Given the description of an element on the screen output the (x, y) to click on. 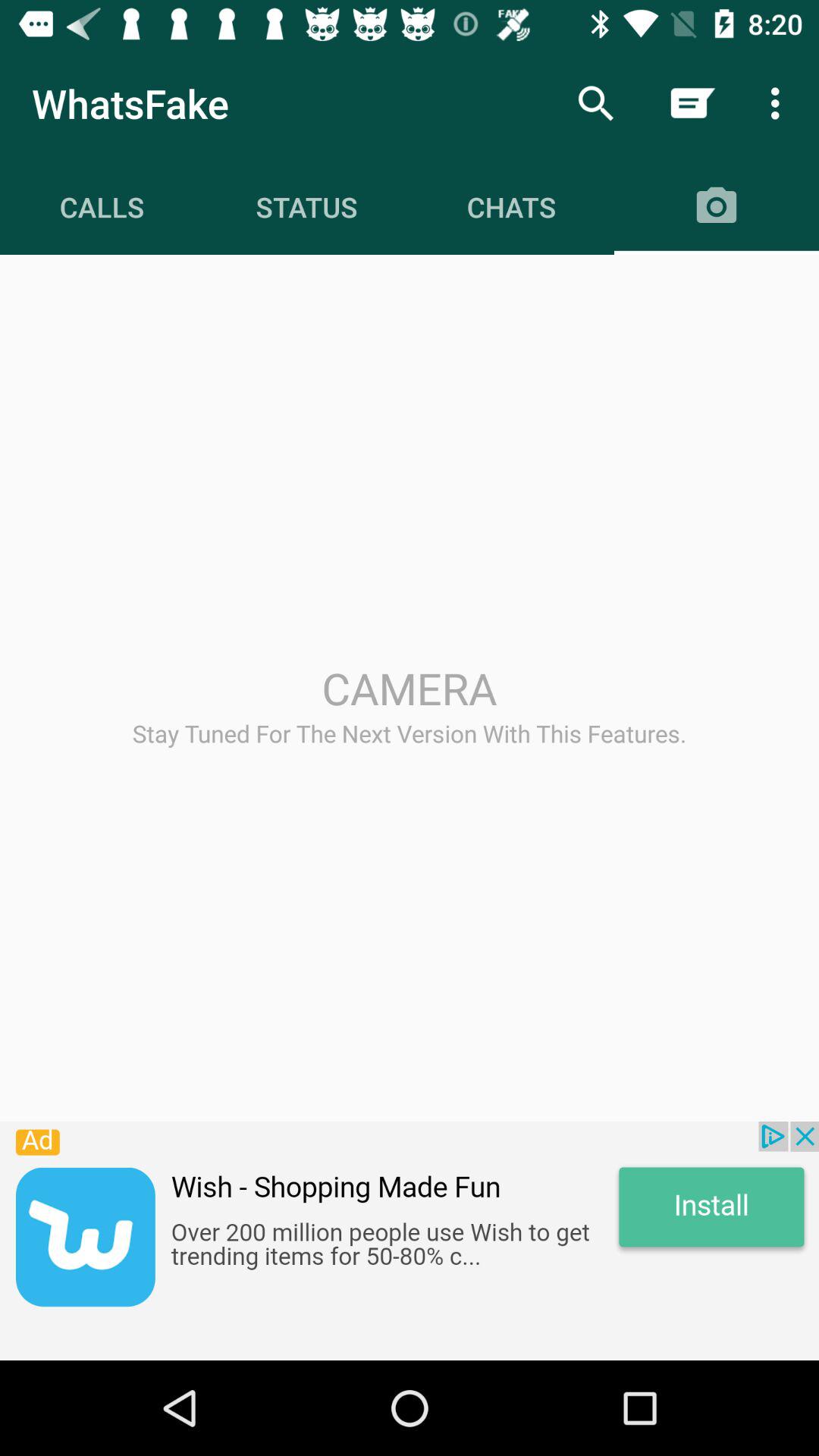
advertisement (409, 1240)
